Given the description of an element on the screen output the (x, y) to click on. 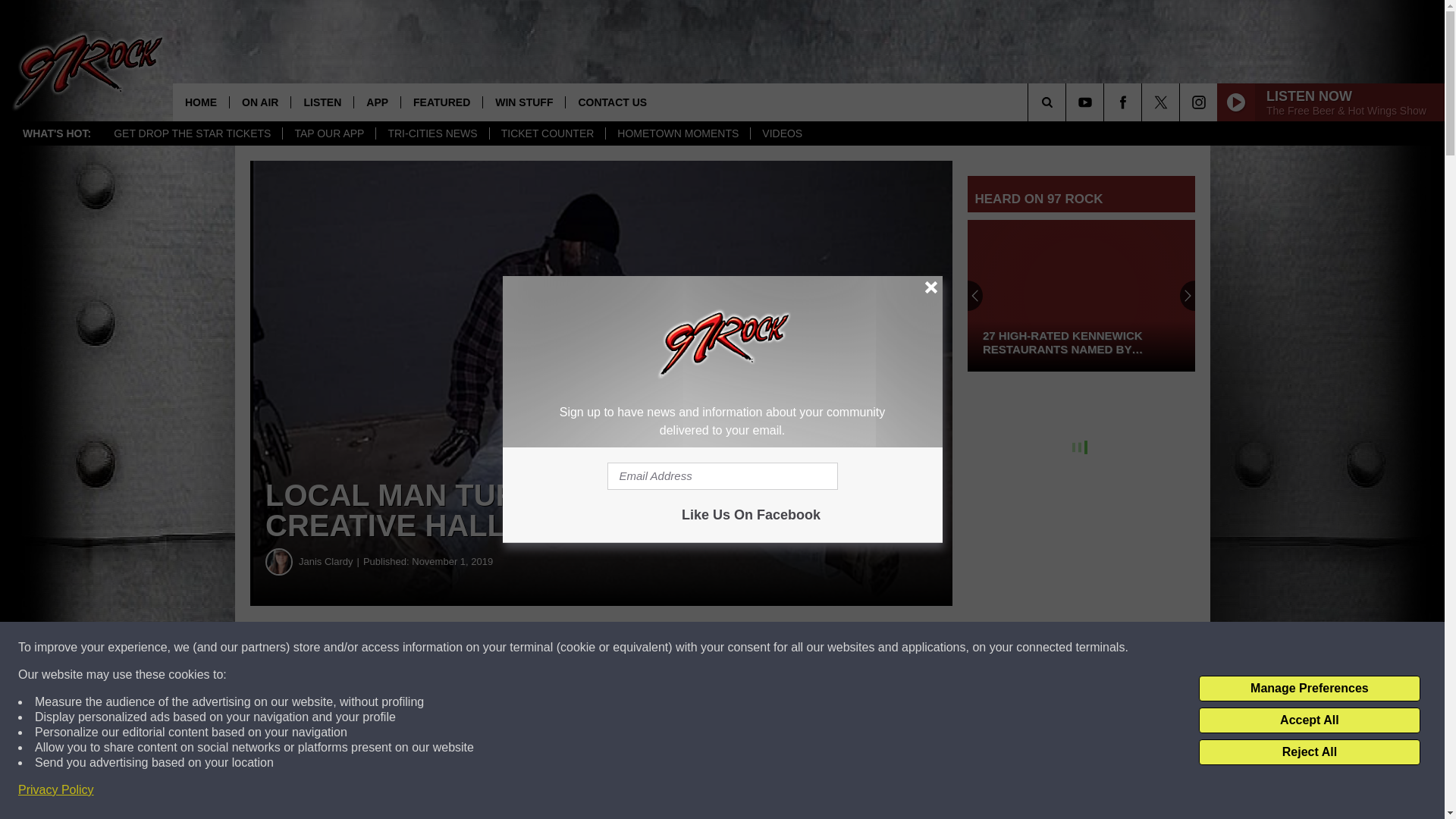
WHAT'S HOT: (56, 133)
TAP OUR APP (328, 133)
SEARCH (1068, 102)
Reject All (1309, 751)
TRI-CITIES NEWS (431, 133)
ON AIR (258, 102)
SEARCH (1068, 102)
HOME (200, 102)
Email Address (722, 475)
Share on Facebook (460, 647)
APP (376, 102)
Manage Preferences (1309, 688)
Privacy Policy (55, 789)
FEATURED (440, 102)
VIDEOS (781, 133)
